Given the description of an element on the screen output the (x, y) to click on. 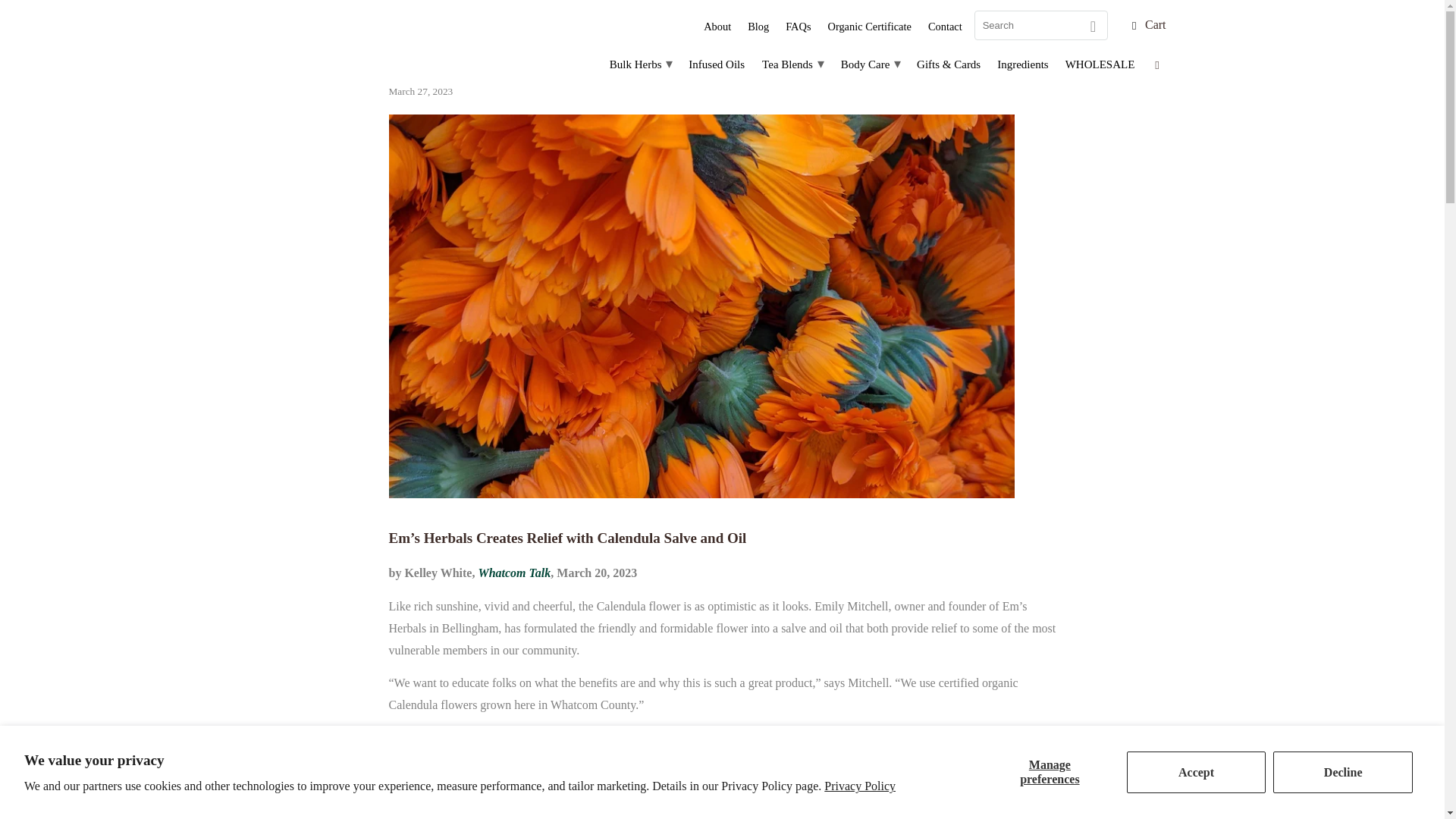
Privacy Policy (859, 785)
Accept (1196, 771)
0 (1310, 21)
Manage preferences (1049, 771)
Decline (1342, 771)
